Given the description of an element on the screen output the (x, y) to click on. 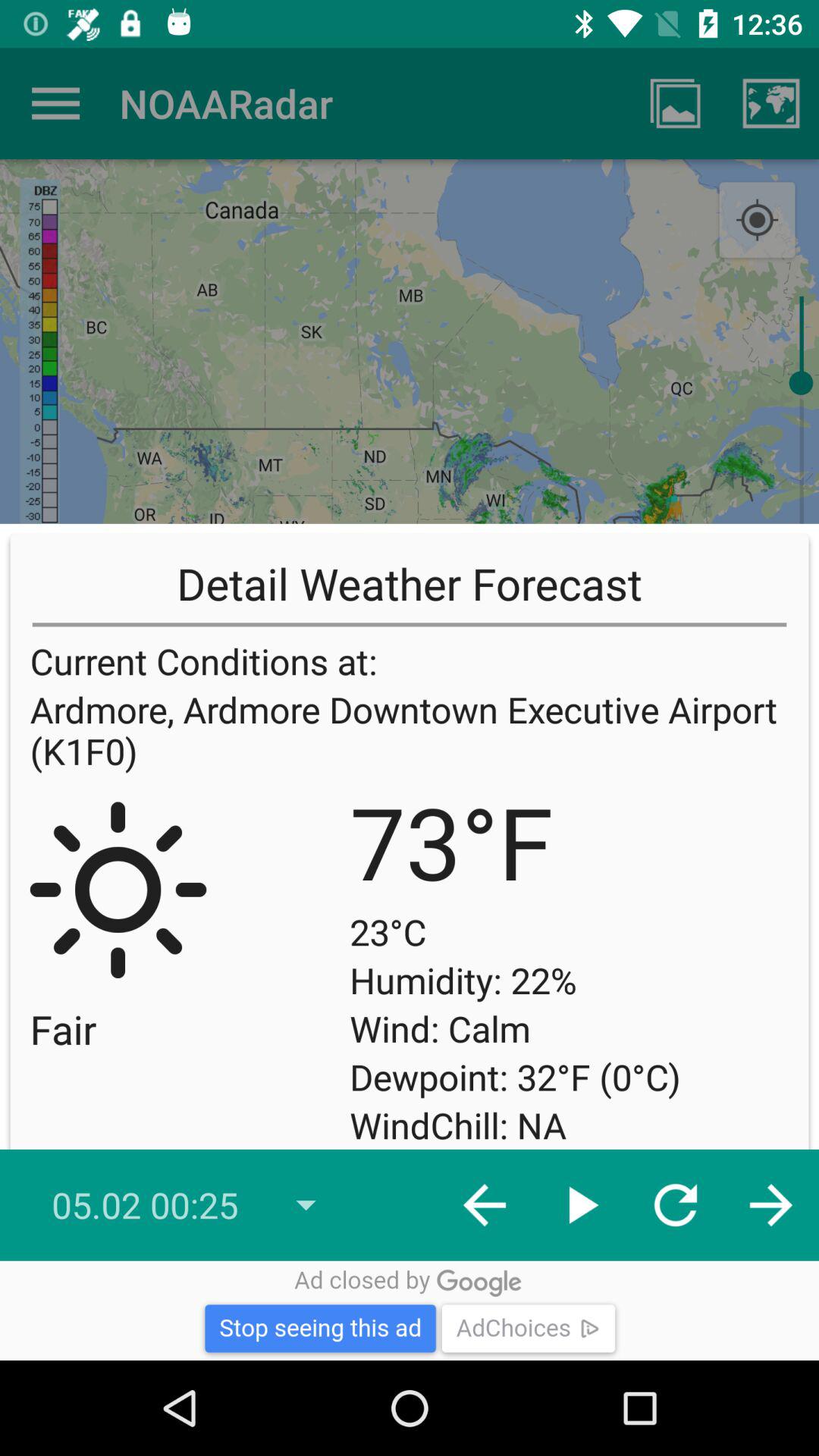
go to the menu (55, 103)
